Given the description of an element on the screen output the (x, y) to click on. 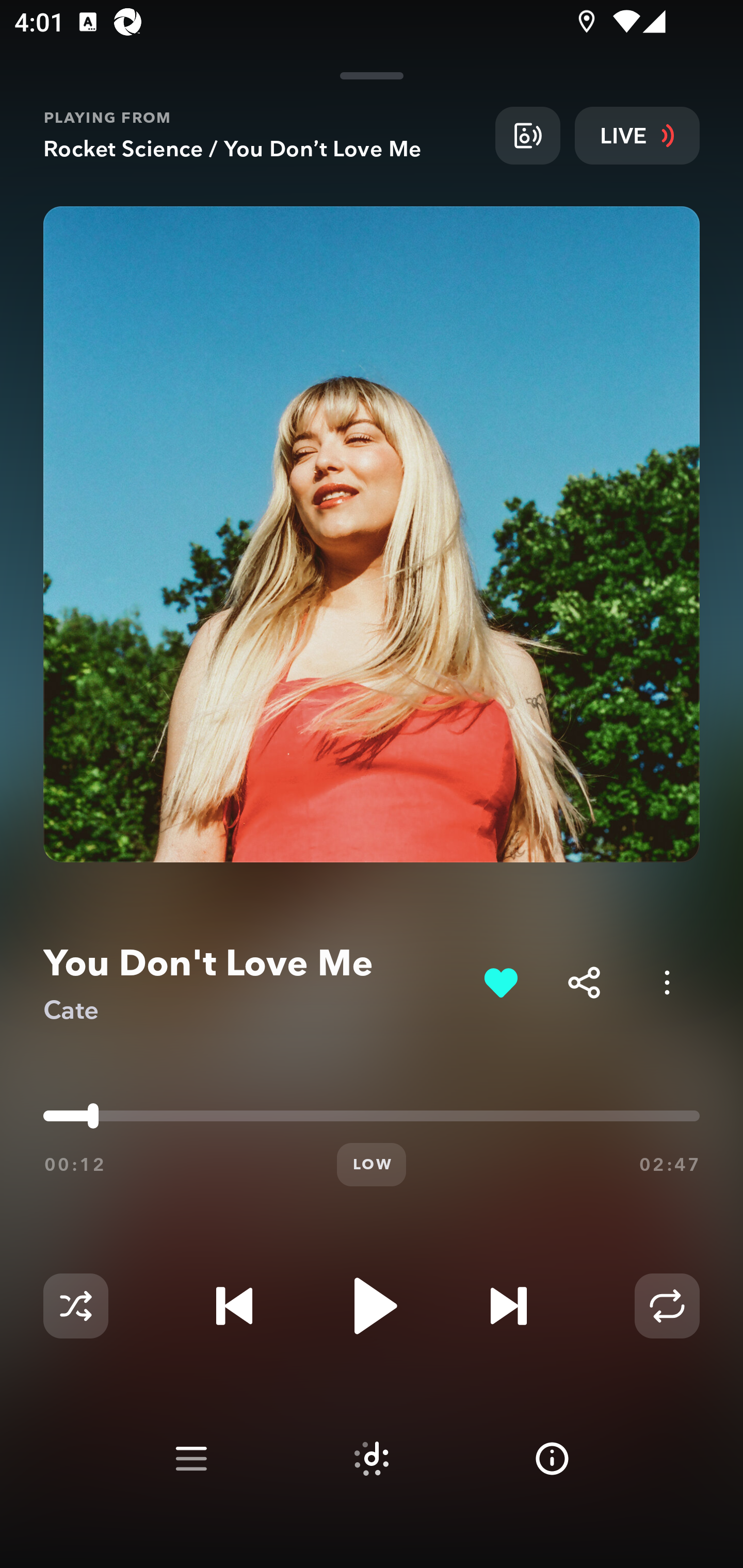
Broadcast (527, 135)
LIVE (637, 135)
PLAYING FROM Rocket Science / You Don’t Love Me (261, 135)
You Don't Love Me Cate (255, 983)
Remove from My Collection (500, 982)
Share (583, 982)
Options (666, 982)
LOW (371, 1164)
Play (371, 1306)
Previous (234, 1306)
Next (508, 1306)
Shuffle enabled (75, 1306)
Repeat All (666, 1306)
Play queue (191, 1458)
Suggested tracks (371, 1458)
Info (551, 1458)
